Given the description of an element on the screen output the (x, y) to click on. 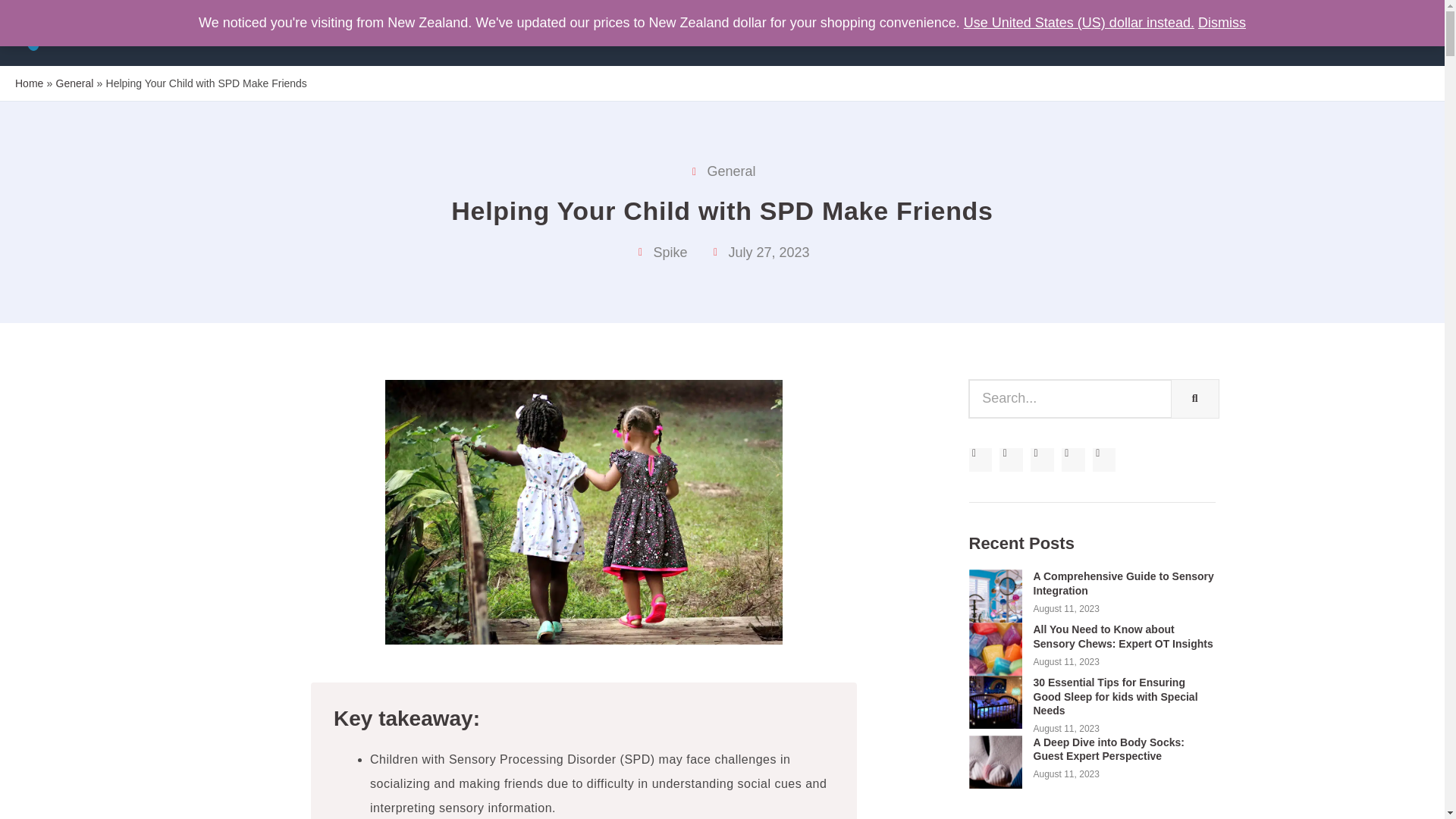
Youtube (1072, 459)
About Us (1001, 25)
Blog (1070, 25)
July 27, 2023 (759, 252)
Twitter (1010, 459)
Home (28, 82)
A Deep Dive into Body Socks: Guest Expert Perspective (1107, 749)
General (75, 82)
Facebook-f (980, 459)
Pinterest-p (1042, 459)
A Comprehensive Guide to Sensory Integration (1122, 583)
Contact Us (914, 25)
SEARCH (1196, 398)
Spike (660, 252)
Instagram (1104, 459)
